Given the description of an element on the screen output the (x, y) to click on. 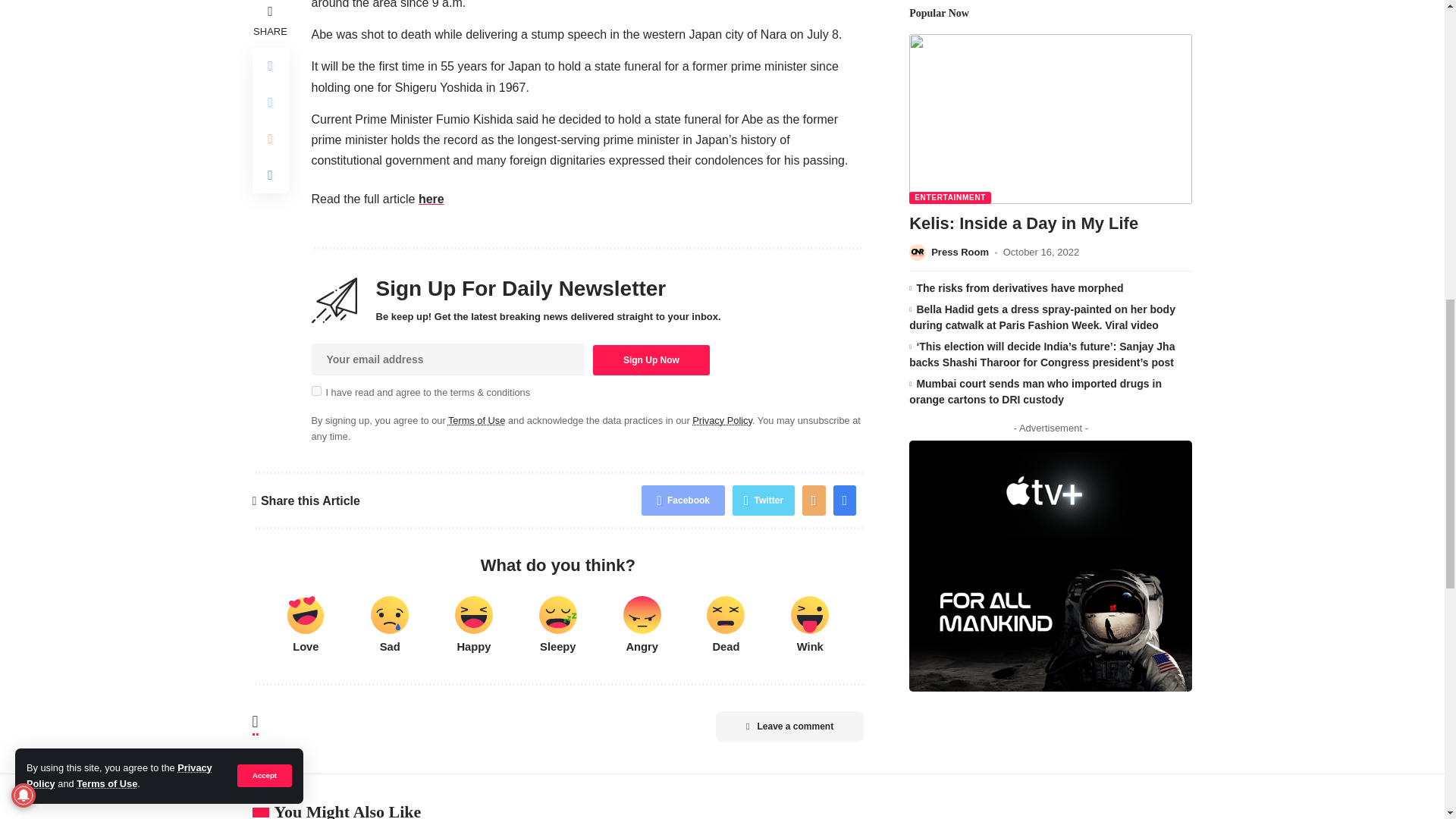
1 (315, 390)
Sign Up Now (651, 359)
